Given the description of an element on the screen output the (x, y) to click on. 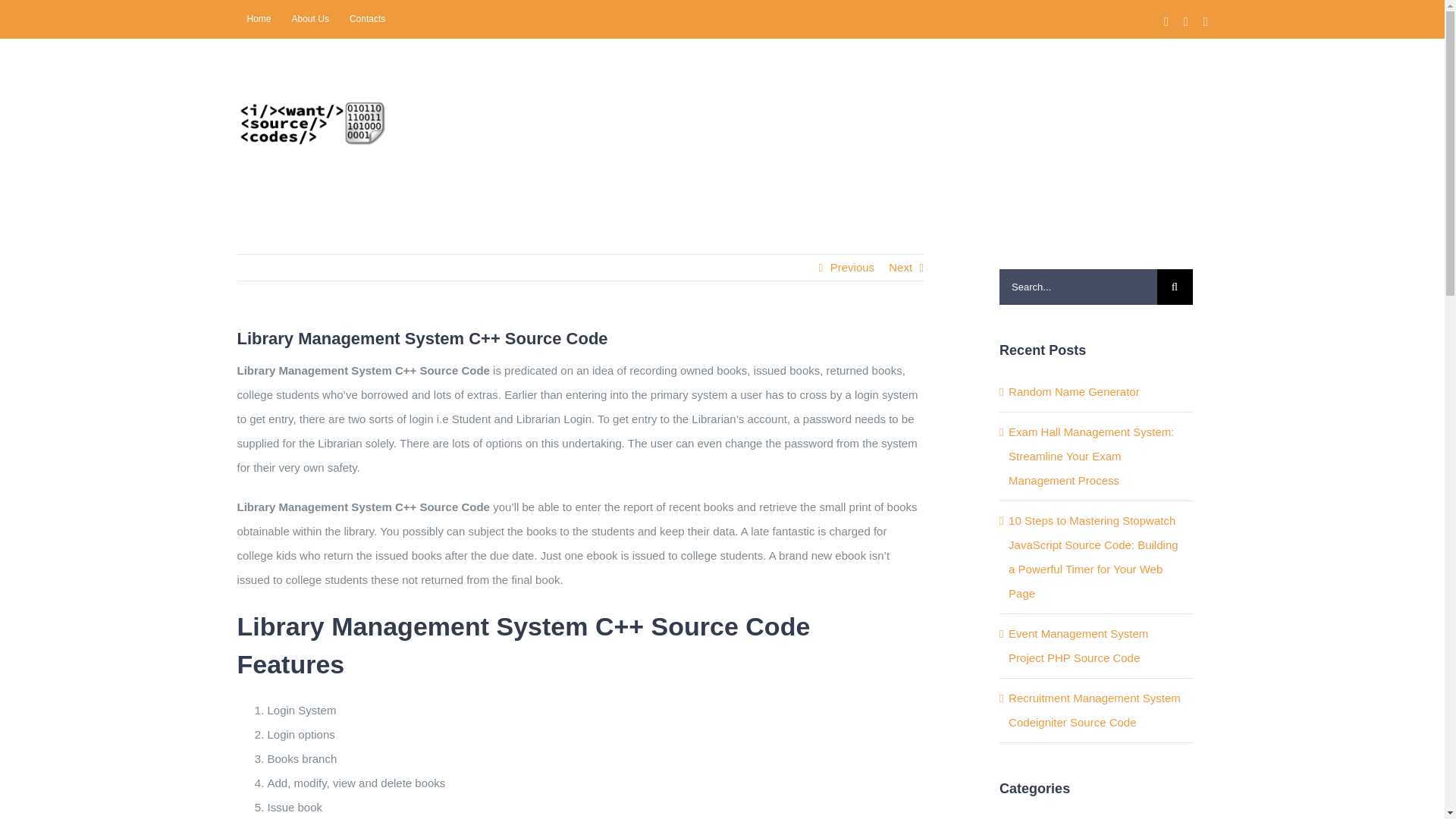
Previous (852, 267)
Contacts (366, 18)
About Us (310, 18)
Next (900, 267)
Home (258, 18)
Random Name Generator (1074, 391)
